Given the description of an element on the screen output the (x, y) to click on. 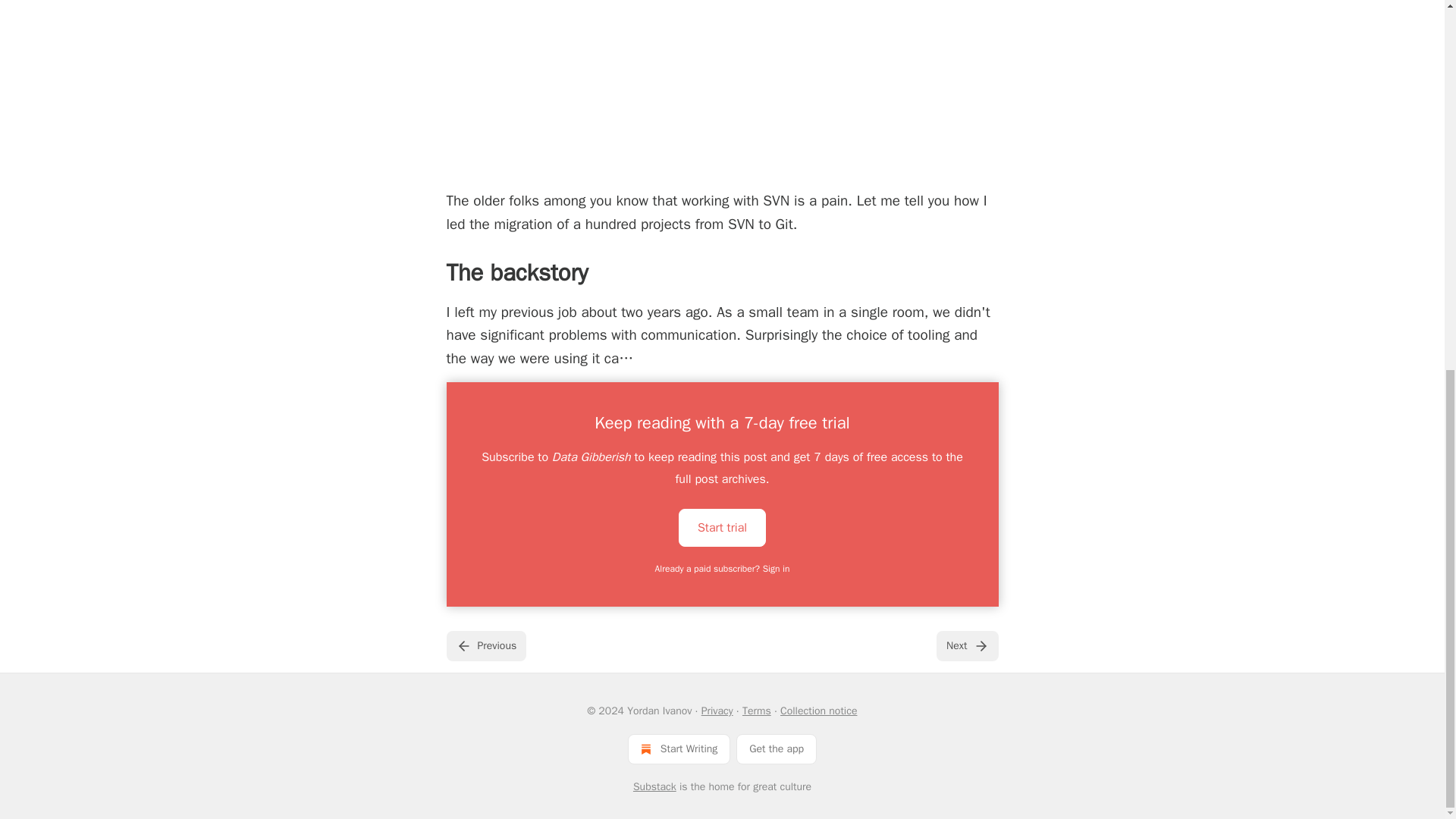
Already a paid subscriber? Sign in (722, 568)
Privacy (717, 710)
Start trial (721, 527)
Start Writing (678, 748)
Previous (485, 645)
Substack (655, 786)
Collection notice (818, 710)
Start trial (721, 526)
Get the app (776, 748)
Next (966, 645)
Terms (756, 710)
